Given the description of an element on the screen output the (x, y) to click on. 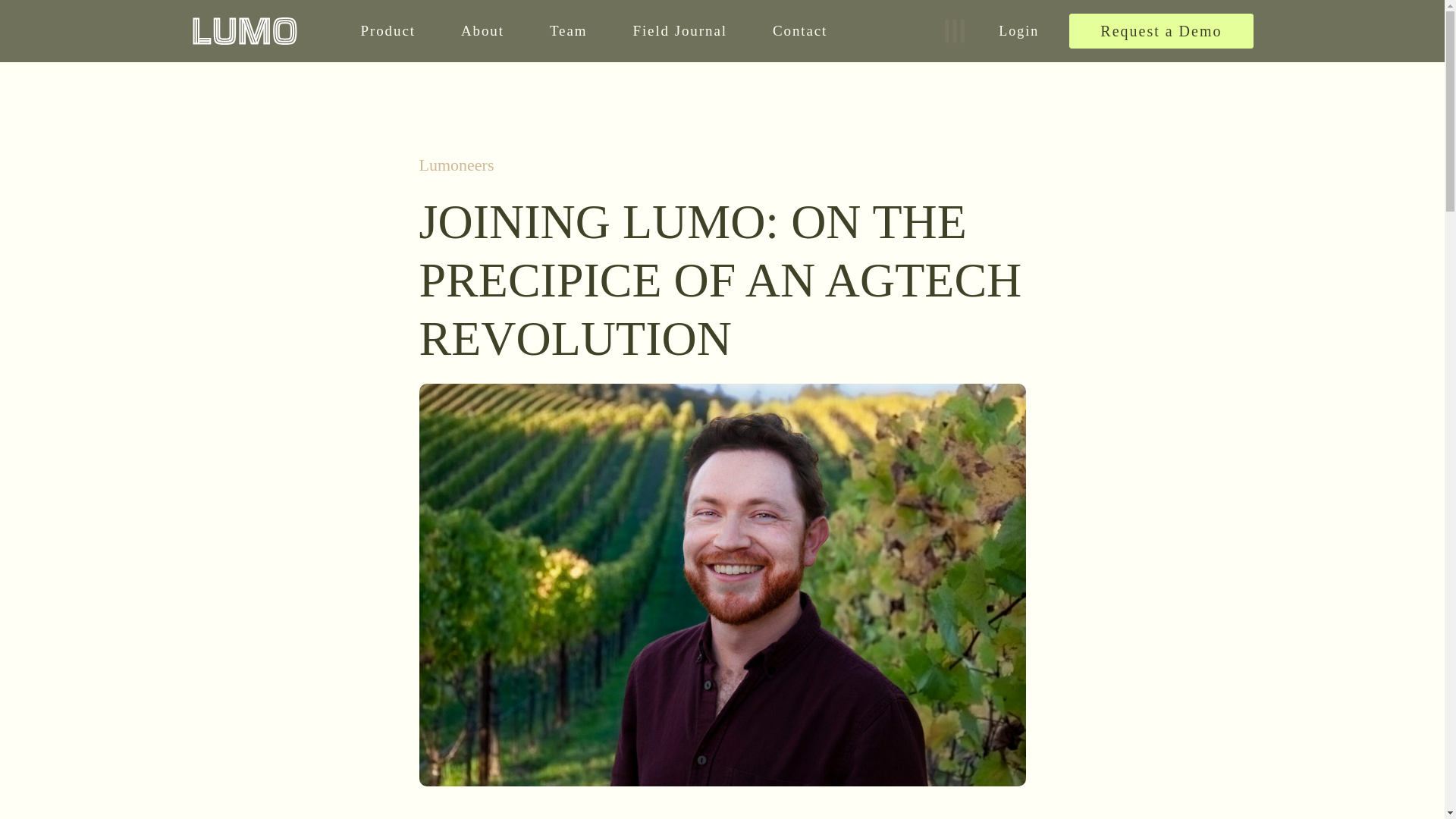
Request a Demo (1160, 30)
Contact (799, 30)
About (482, 30)
Team (568, 30)
Field Journal (679, 30)
Product (387, 30)
Lumoneers (456, 164)
Login (1018, 31)
